Given the description of an element on the screen output the (x, y) to click on. 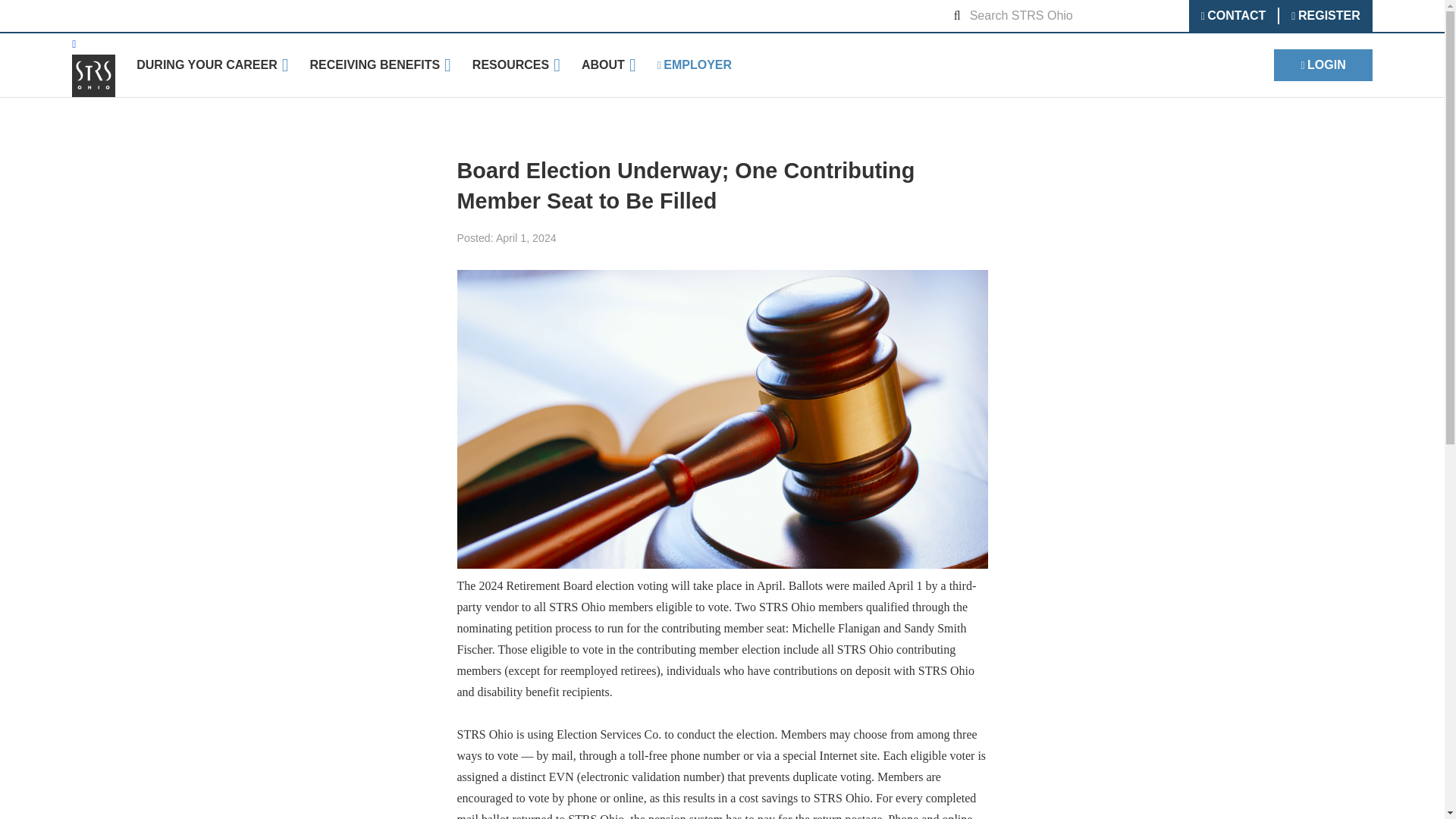
REGISTER (1324, 15)
CONTACT (1233, 15)
